Given the description of an element on the screen output the (x, y) to click on. 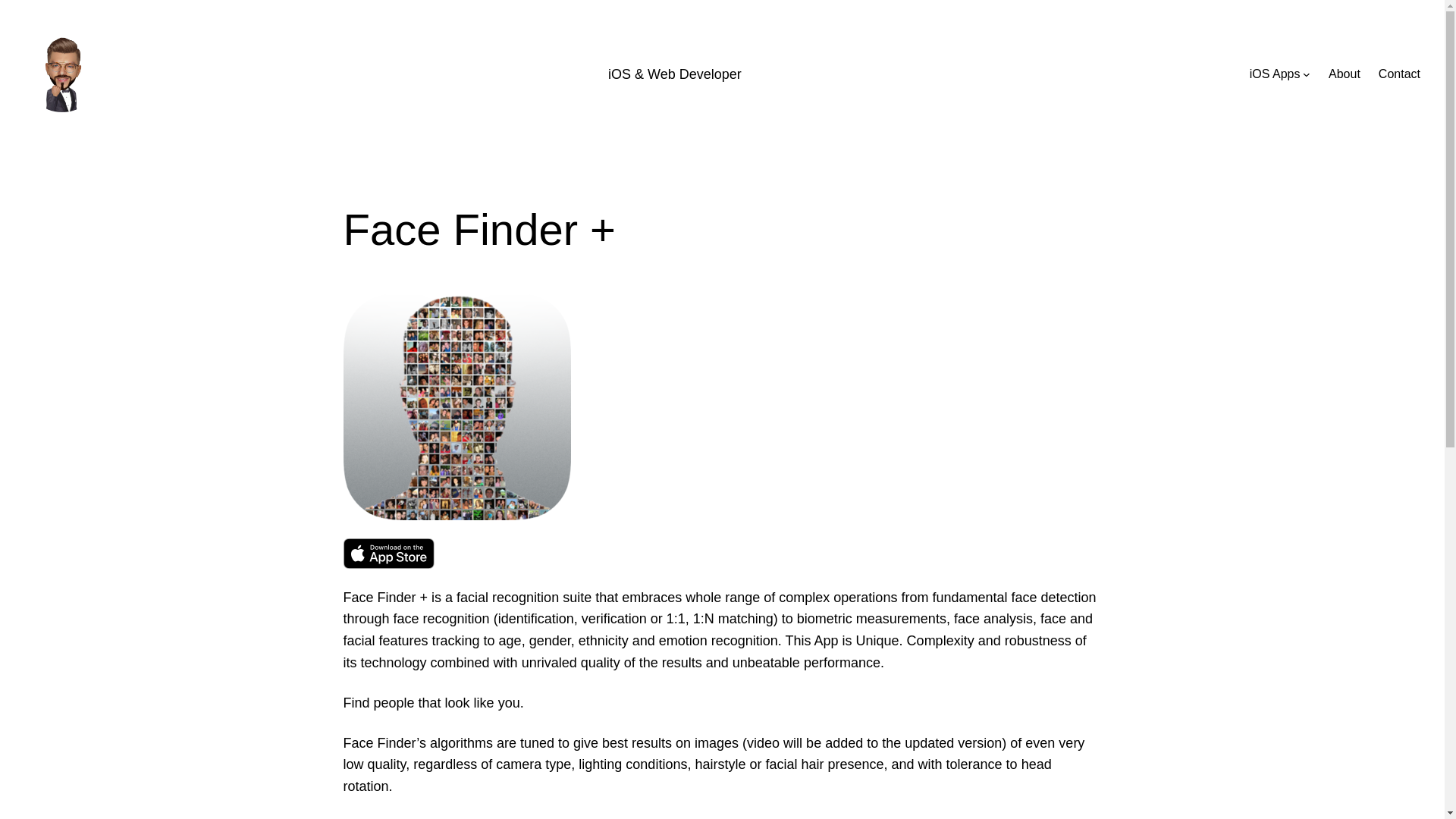
Contact (1399, 74)
About (1343, 74)
iOS Apps (1274, 74)
